Given the description of an element on the screen output the (x, y) to click on. 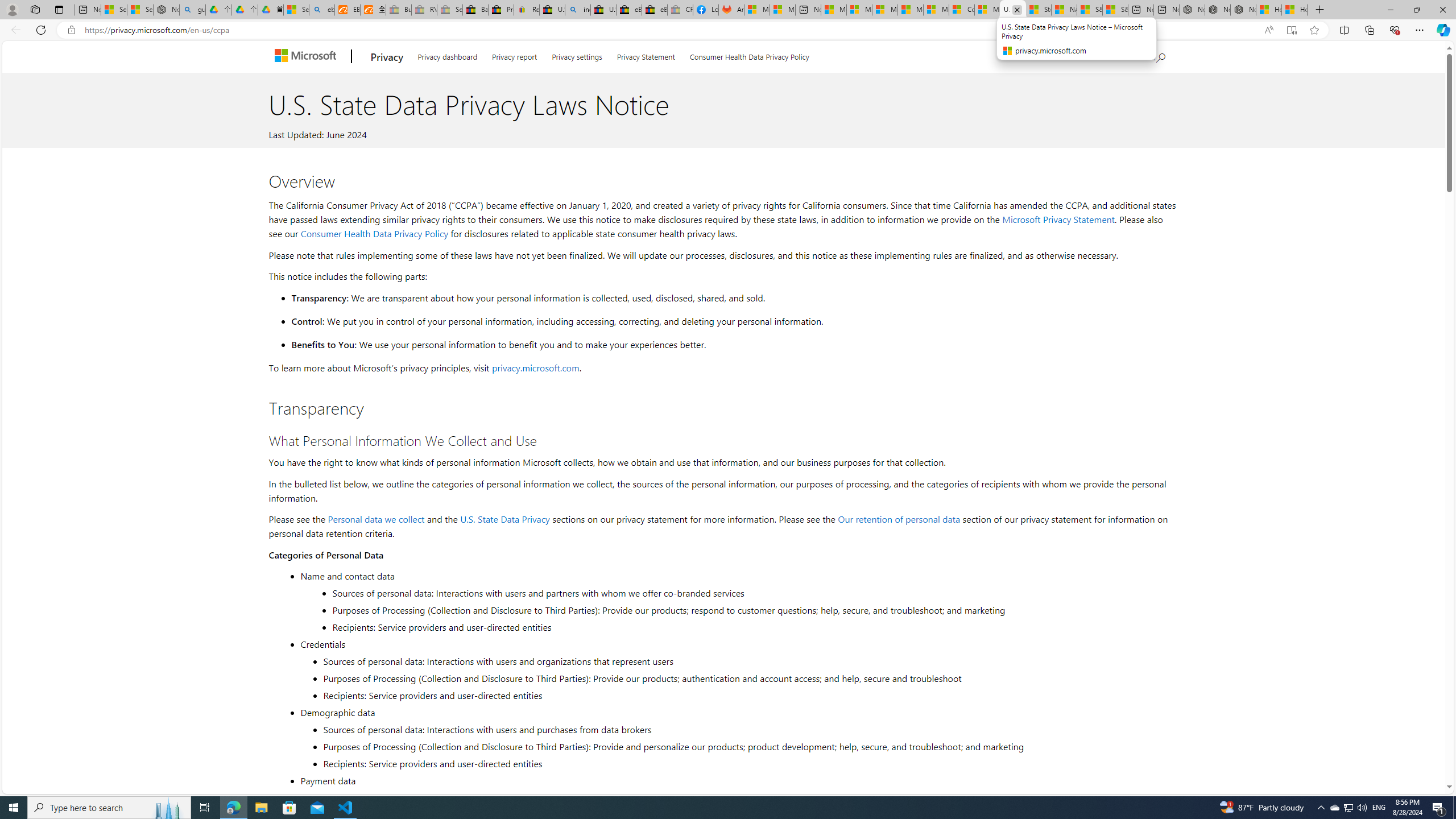
Microsoft (306, 56)
Personal data we collect (376, 518)
Payment data (736, 780)
eBay Inc. Reports Third Quarter 2023 Results (654, 9)
